Given the description of an element on the screen output the (x, y) to click on. 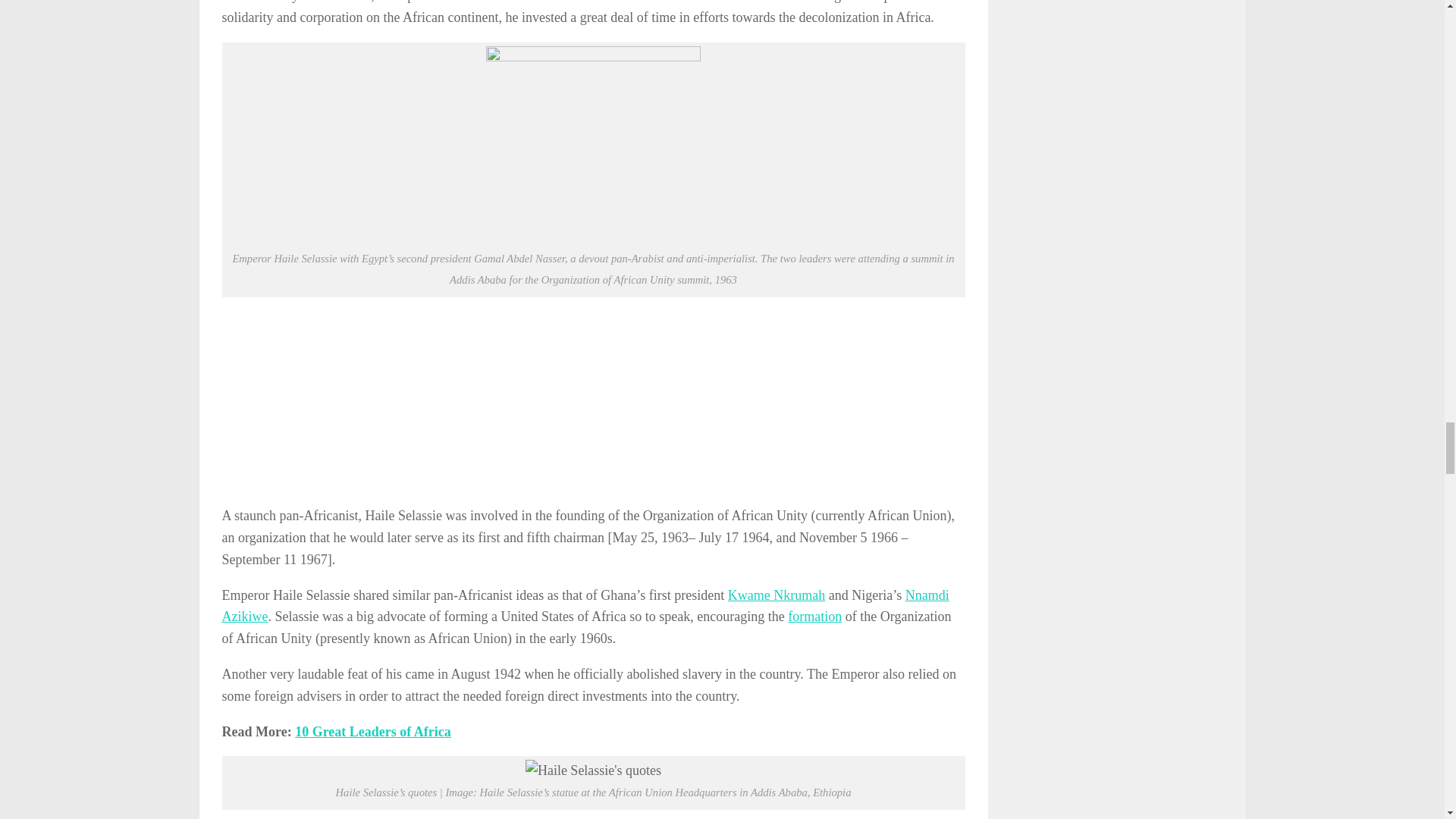
10 Great Leaders of Africa (373, 731)
formation (814, 616)
Kwame Nkrumah (776, 595)
Nnamdi Azikiwe (585, 606)
